Given the description of an element on the screen output the (x, y) to click on. 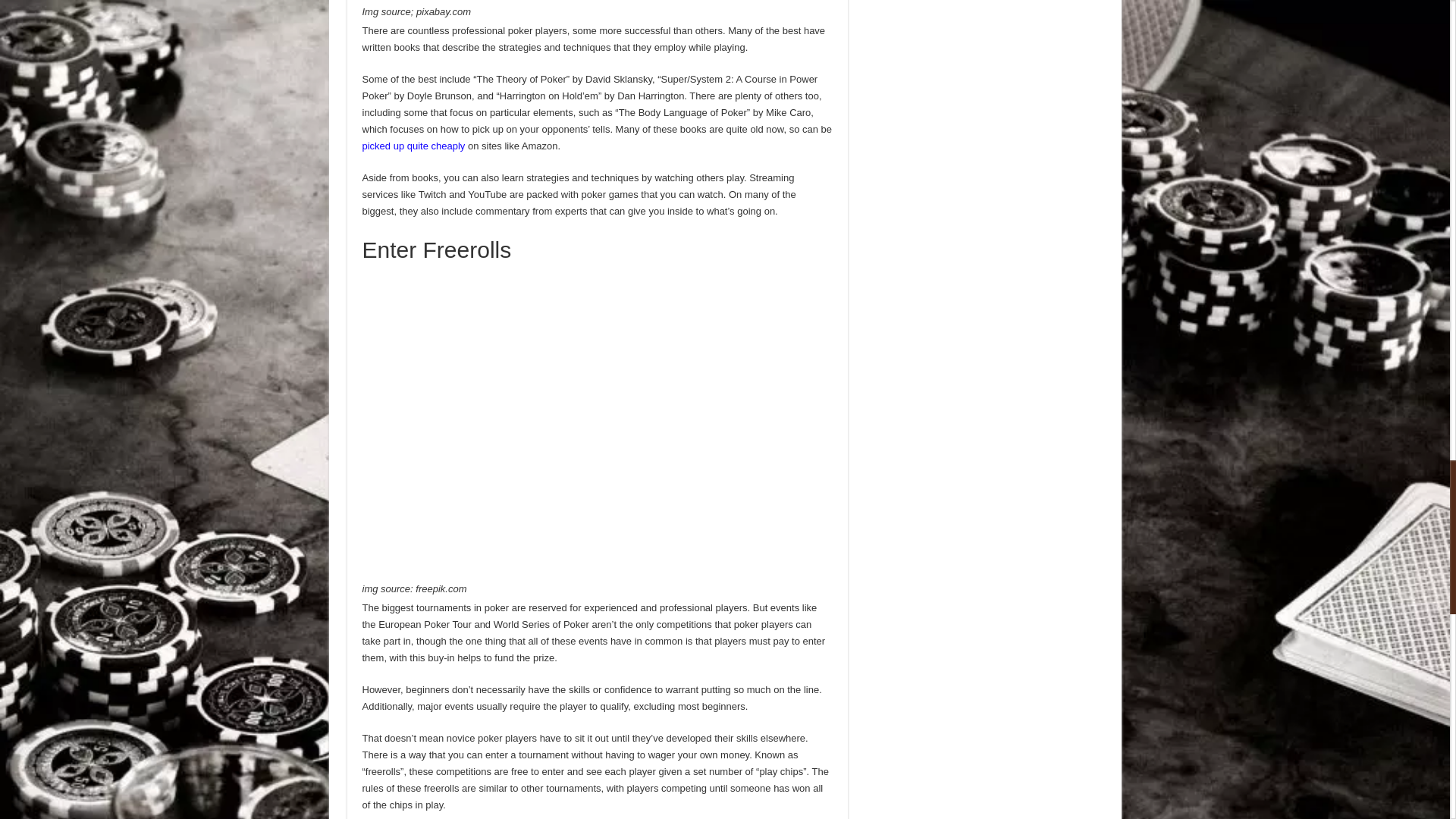
picked up quite cheaply (413, 145)
